Given the description of an element on the screen output the (x, y) to click on. 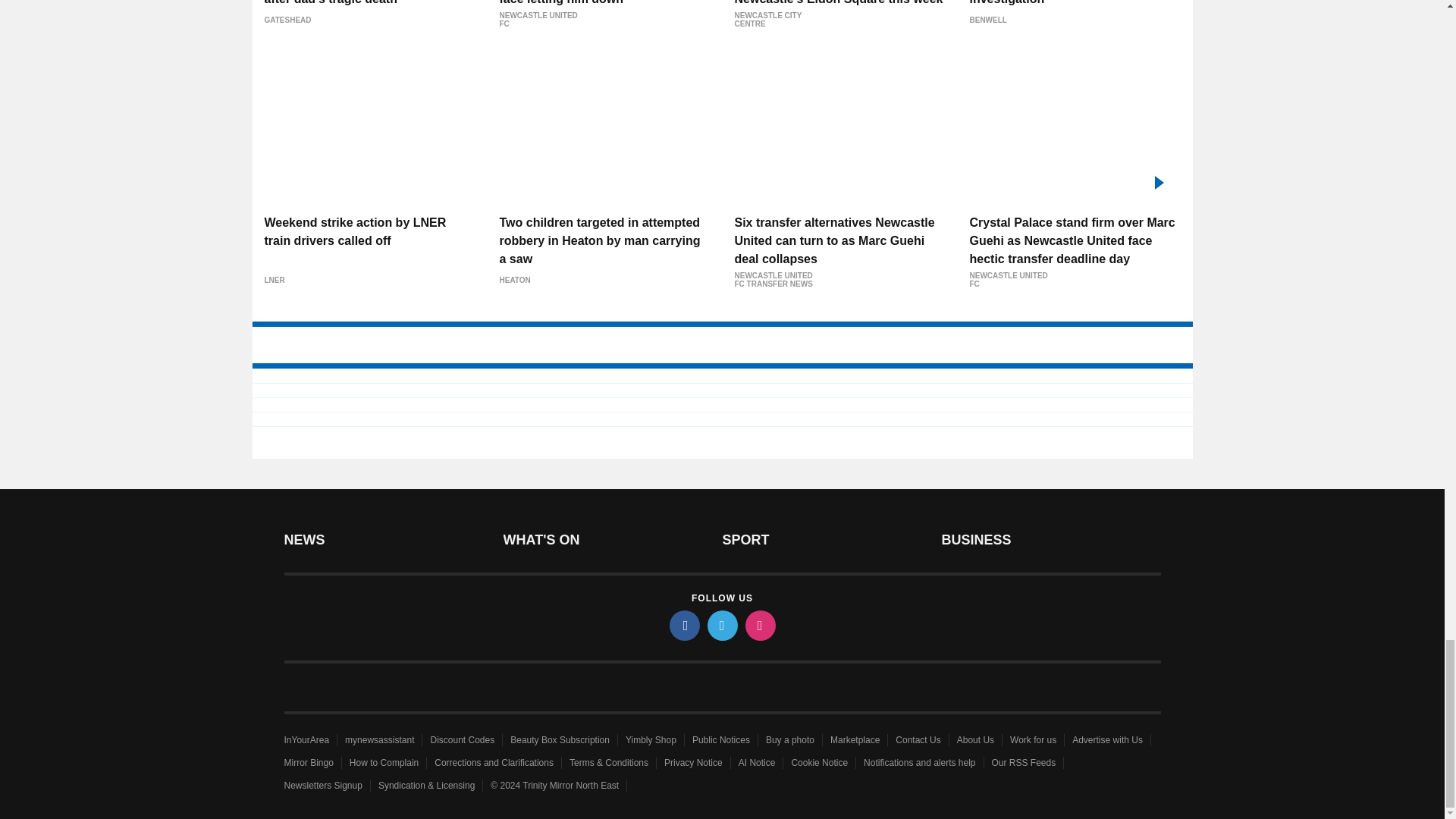
twitter (721, 625)
facebook (683, 625)
instagram (759, 625)
